Given the description of an element on the screen output the (x, y) to click on. 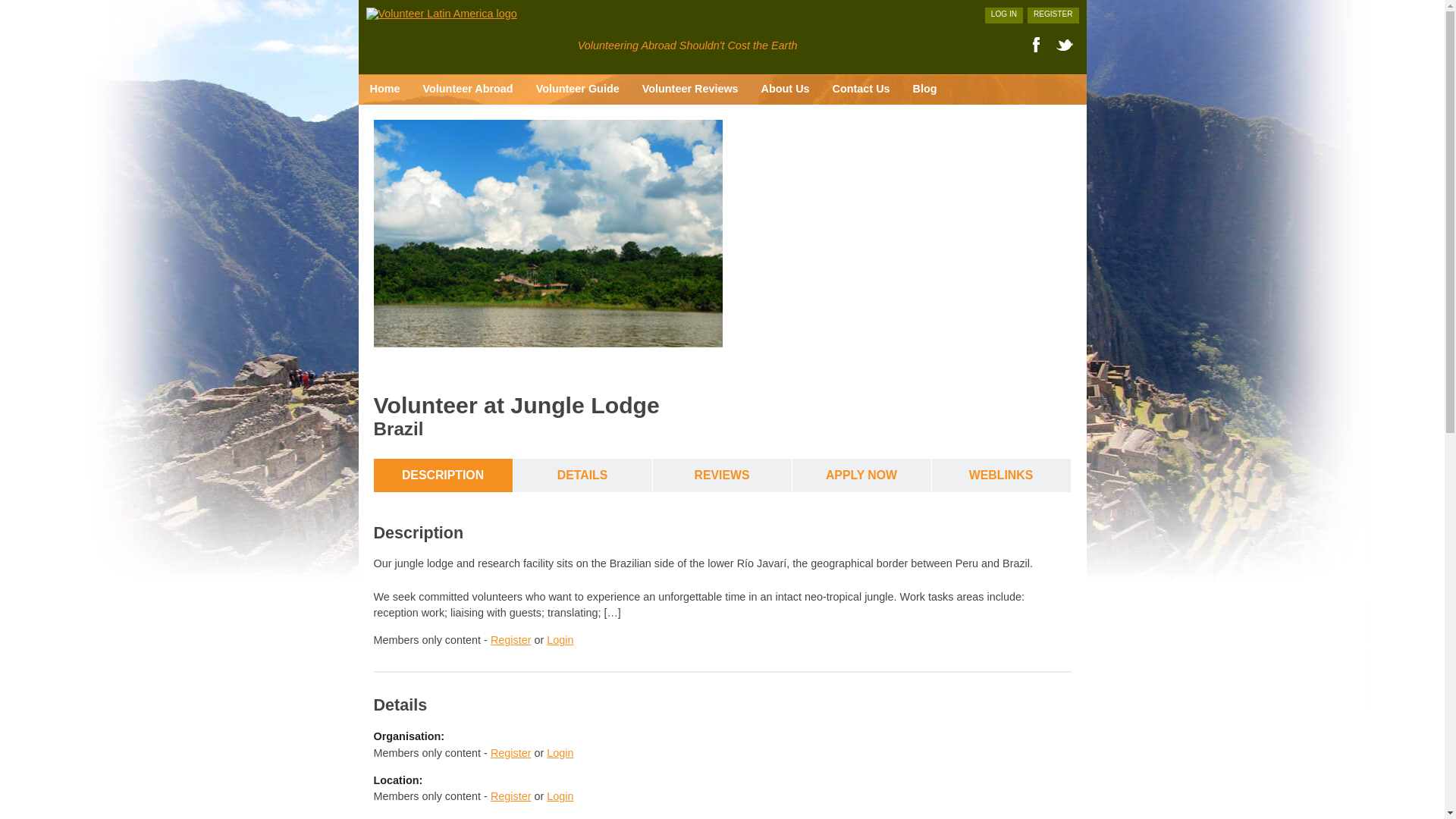
About Us (785, 88)
Volunteer Abroad (467, 88)
Twitter (1063, 44)
Volunteer Reviews (689, 88)
Login (560, 796)
DESCRIPTION (442, 475)
Volunteer Reviews (689, 88)
Facebook (1034, 44)
REGISTER (1052, 15)
LOG IN (1004, 15)
